Given the description of an element on the screen output the (x, y) to click on. 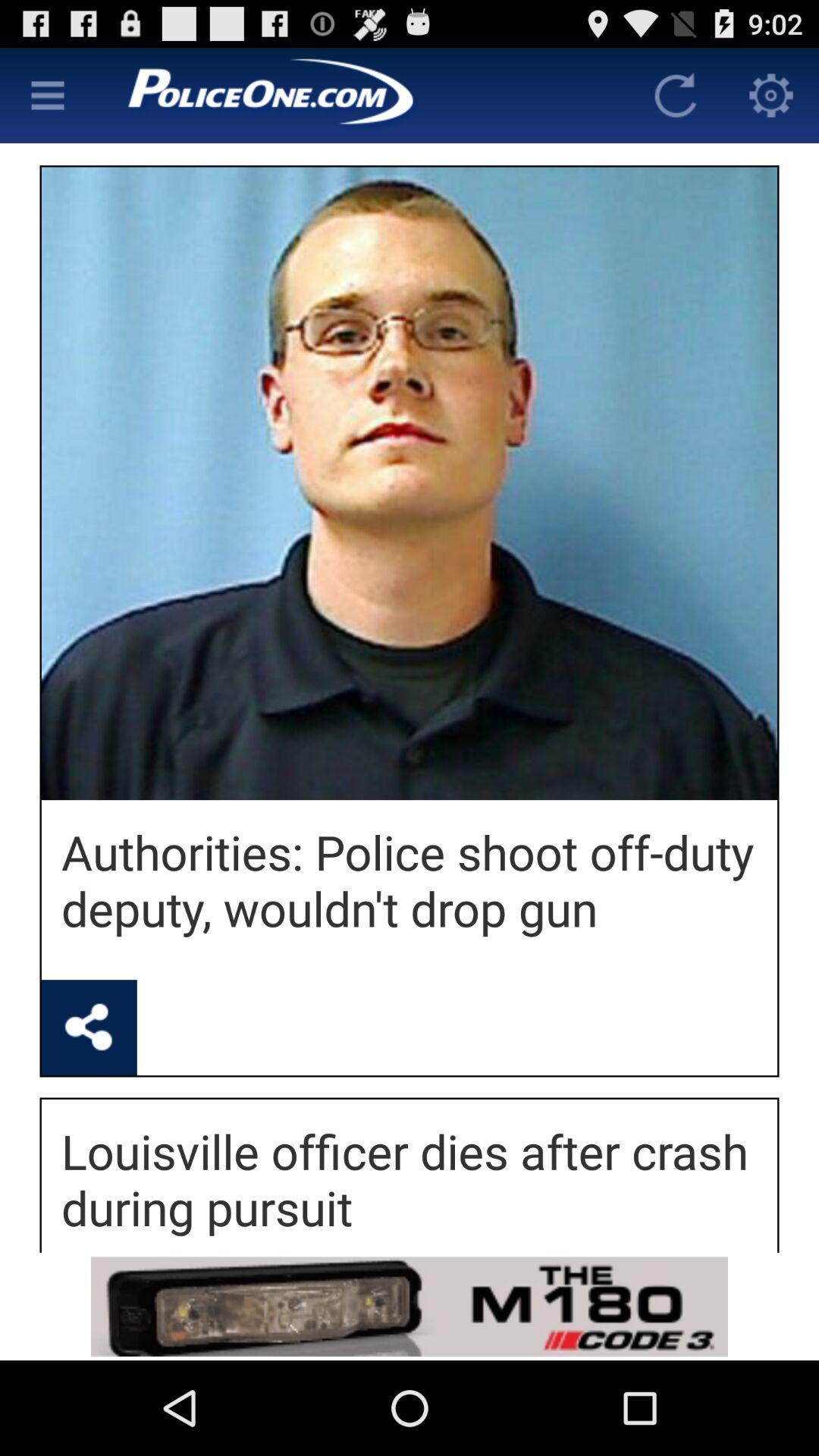
click to share option (89, 1027)
